Given the description of an element on the screen output the (x, y) to click on. 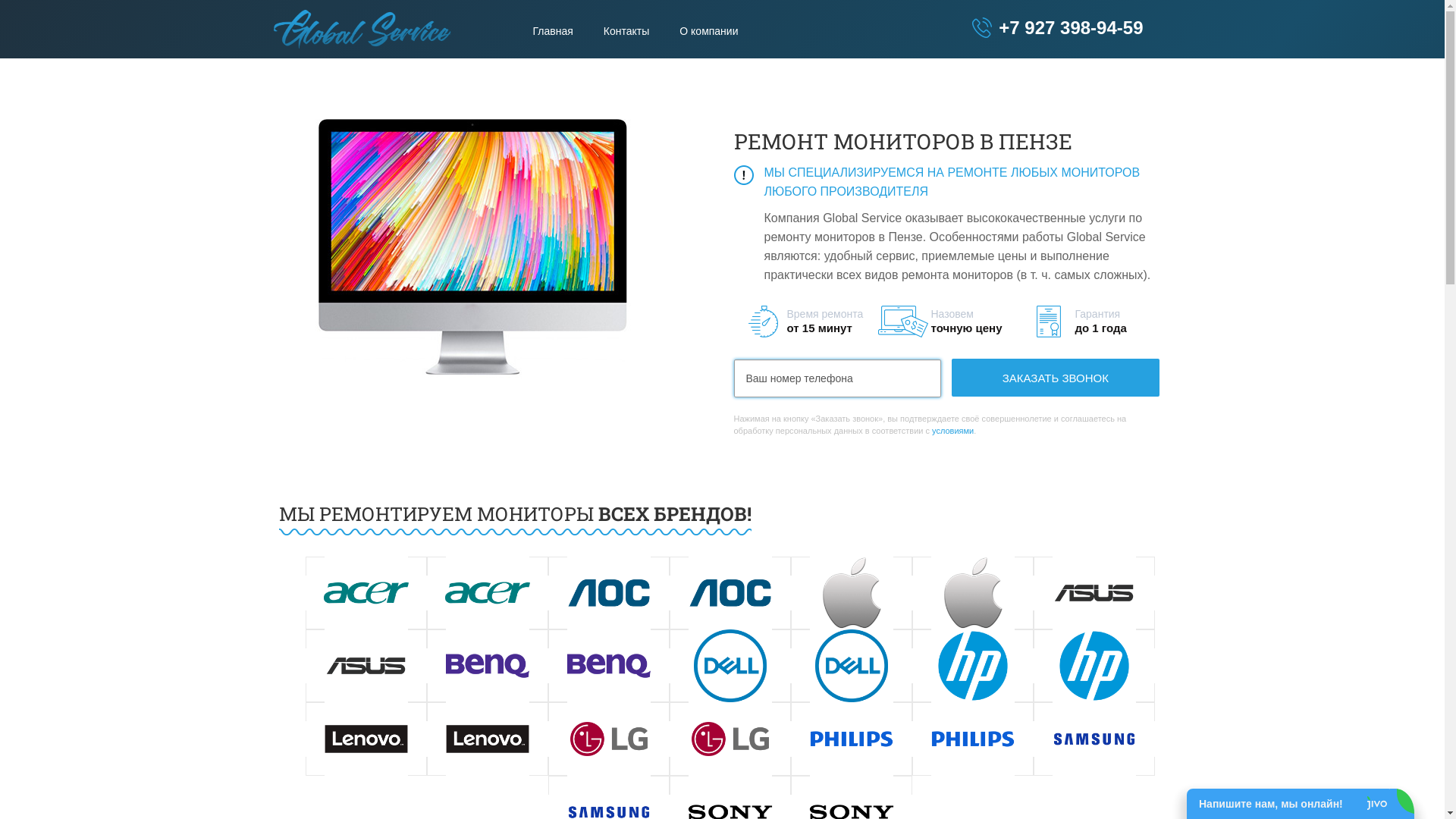
+7 927 398-94-59 Element type: text (1057, 27)
